Given the description of an element on the screen output the (x, y) to click on. 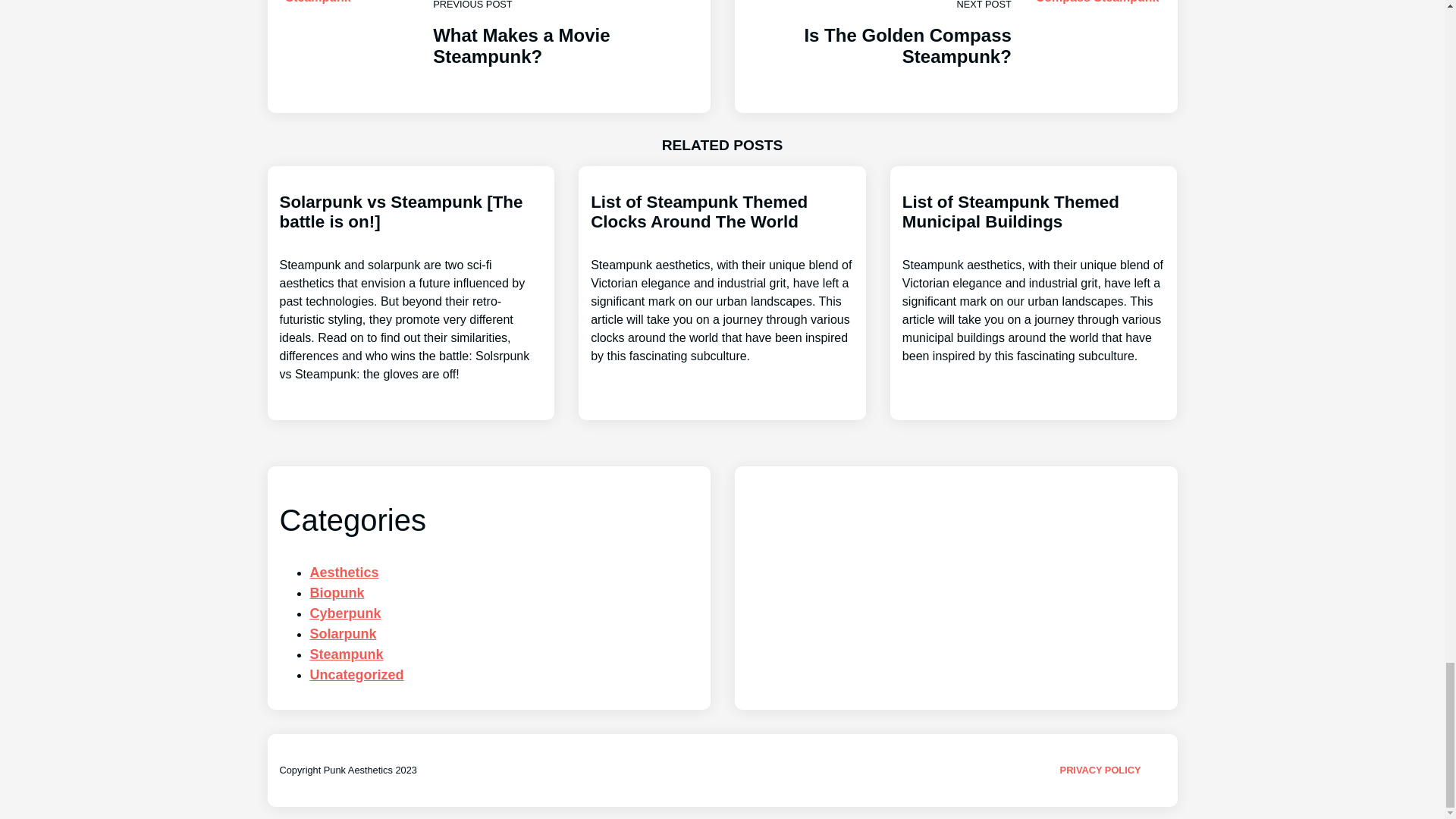
Aesthetics (343, 572)
List of Steampunk Themed Municipal Buildings (954, 56)
Solarpunk (1034, 278)
List of Steampunk Themed Clocks Around The World (341, 633)
Uncategorized (722, 278)
Cyberpunk (355, 674)
